Given the description of an element on the screen output the (x, y) to click on. 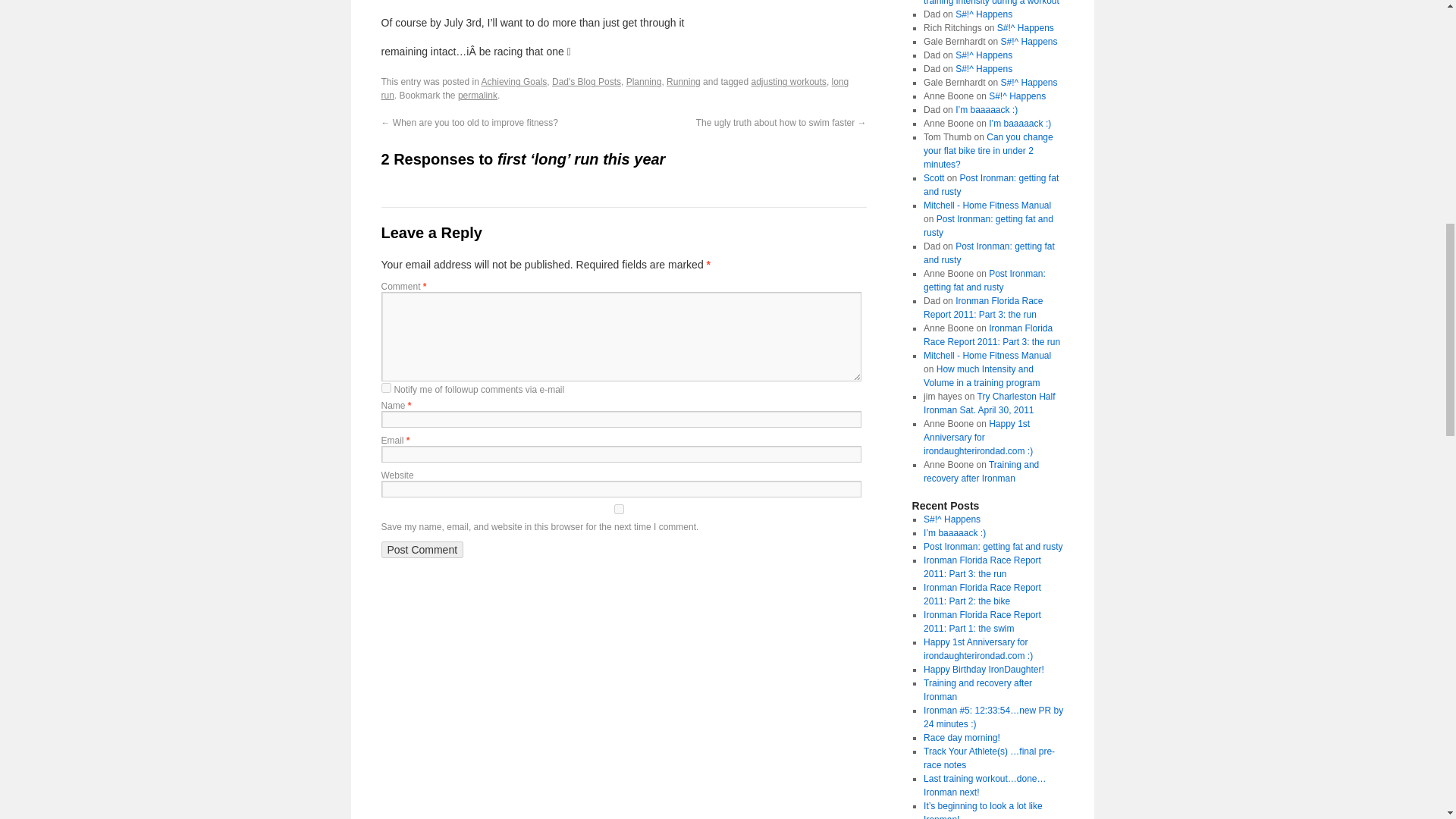
yes (618, 509)
Post Comment (421, 549)
subscribe (385, 388)
